Given the description of an element on the screen output the (x, y) to click on. 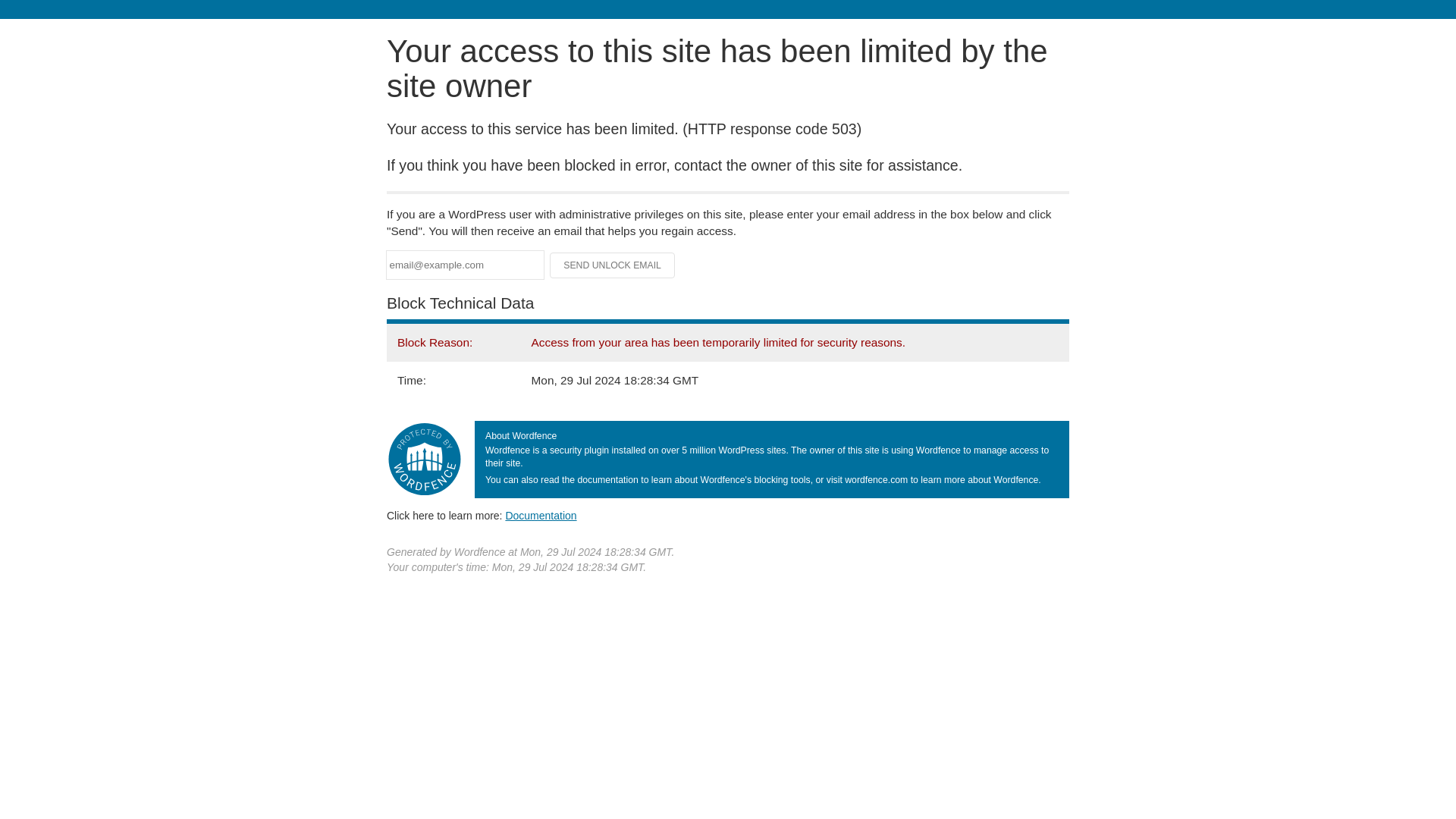
Send Unlock Email (612, 265)
Documentation (540, 515)
Send Unlock Email (612, 265)
